Given the description of an element on the screen output the (x, y) to click on. 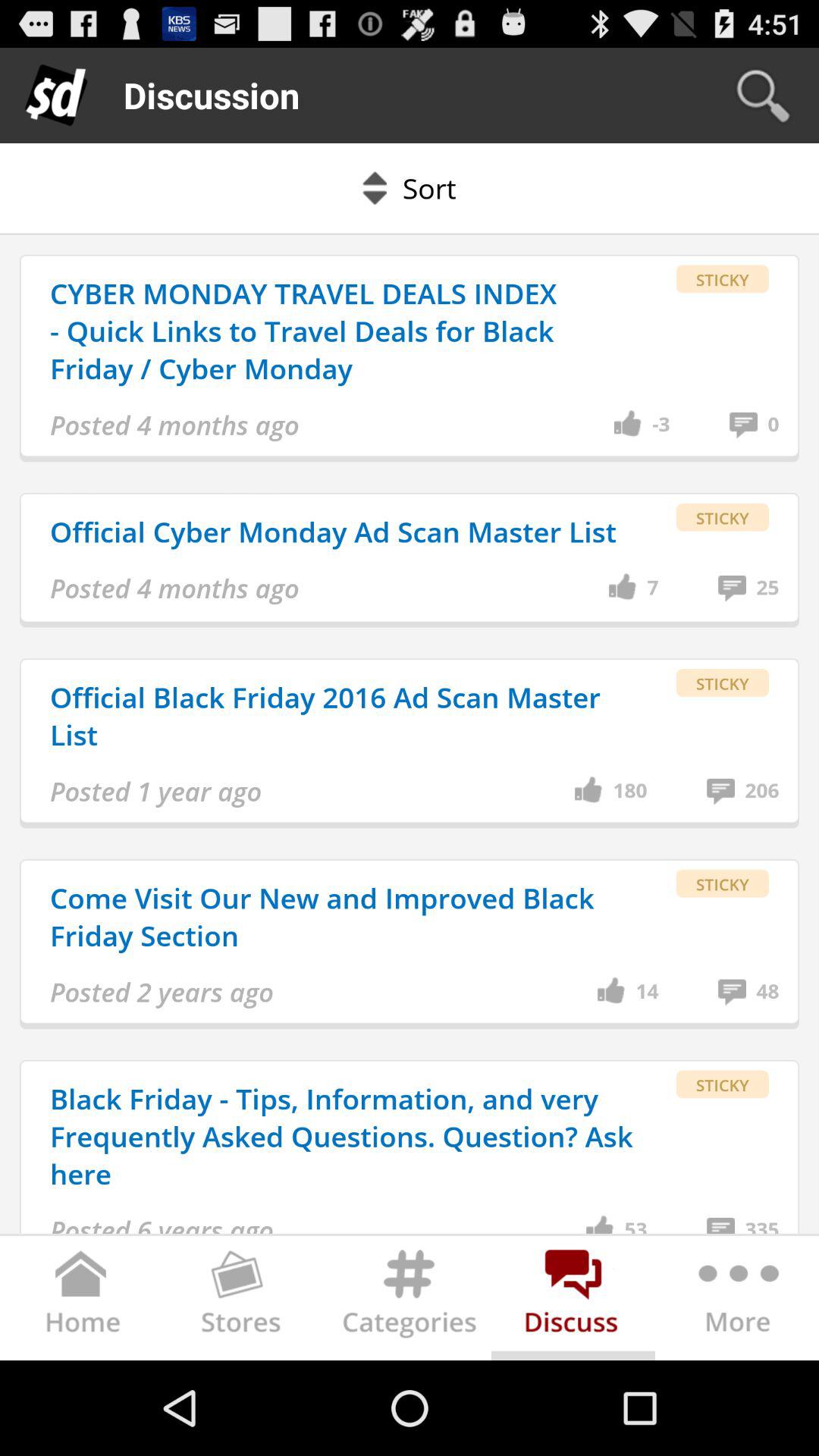
turn off icon above the sticky (767, 588)
